Given the description of an element on the screen output the (x, y) to click on. 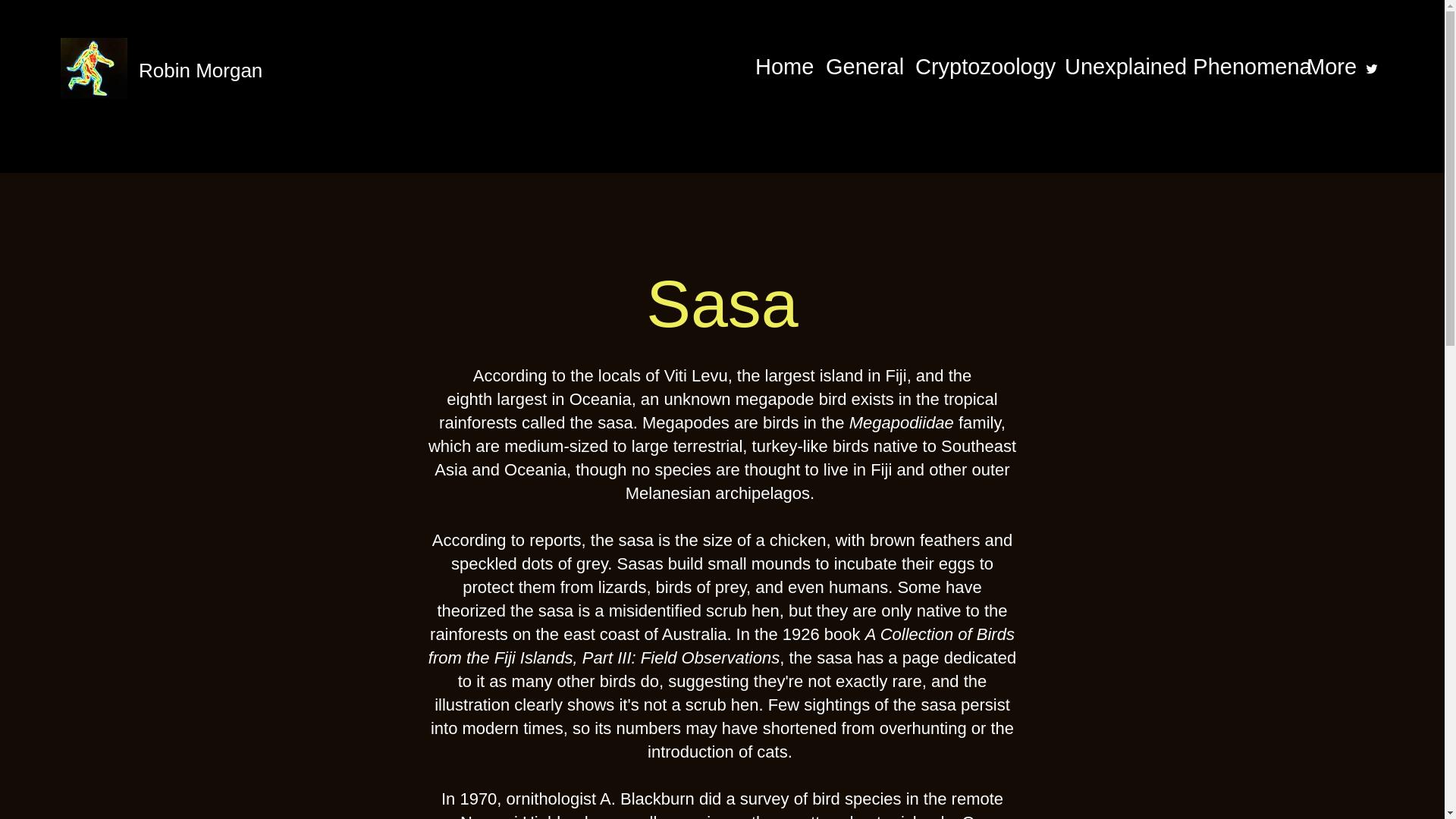
Robin Morgan (200, 69)
Unexplained Phenomena (1177, 66)
Home (783, 66)
Cryptozoology (982, 66)
General (862, 66)
